Given the description of an element on the screen output the (x, y) to click on. 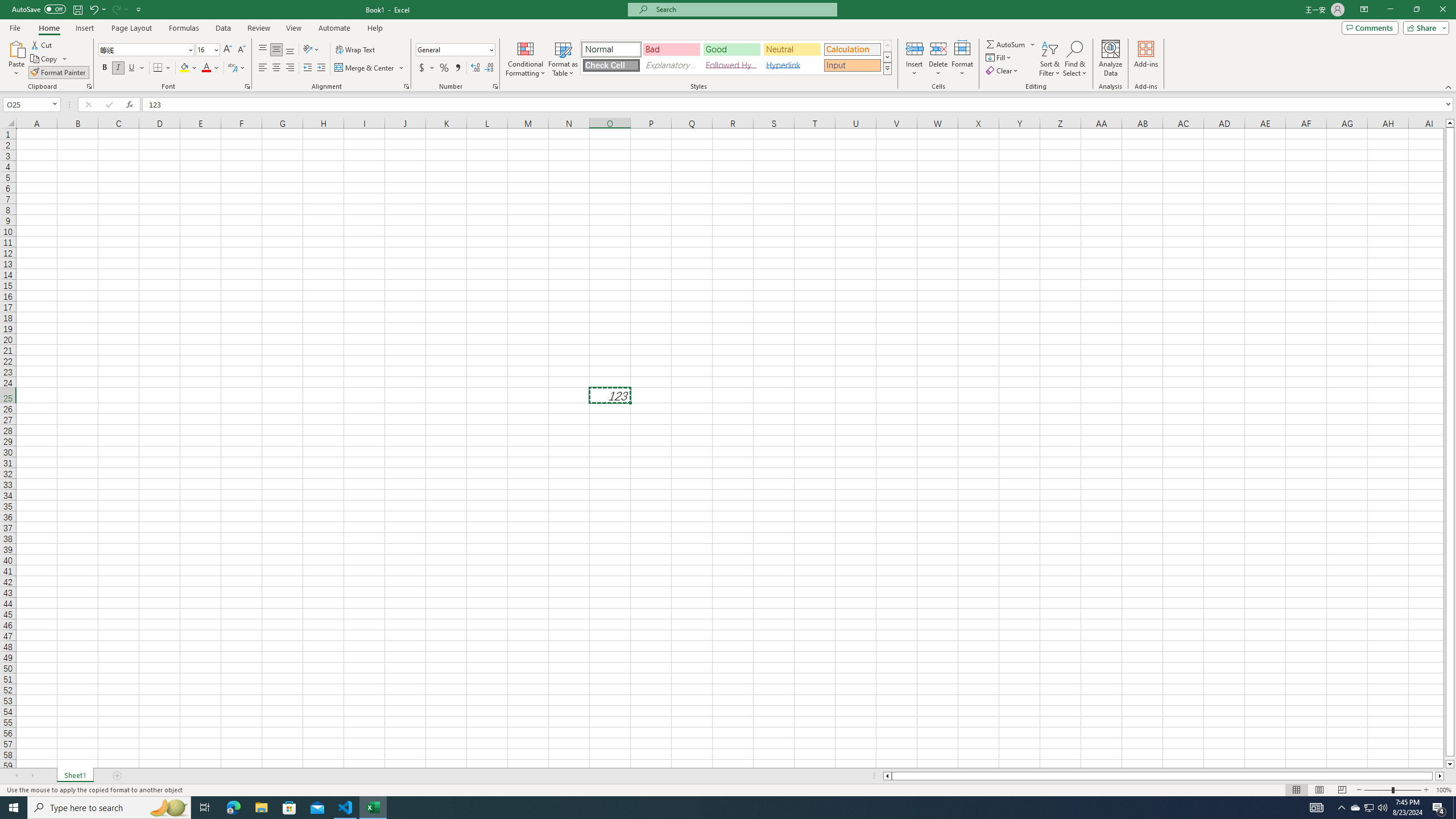
Decrease Decimal (489, 67)
Merge & Center (369, 67)
Clear (1003, 69)
Find & Select (1075, 58)
Center (276, 67)
Increase Decimal (474, 67)
Share (1423, 27)
Close (1442, 9)
Home (48, 28)
Undo (96, 9)
Zoom (1392, 790)
Page Break Preview (1342, 790)
